Given the description of an element on the screen output the (x, y) to click on. 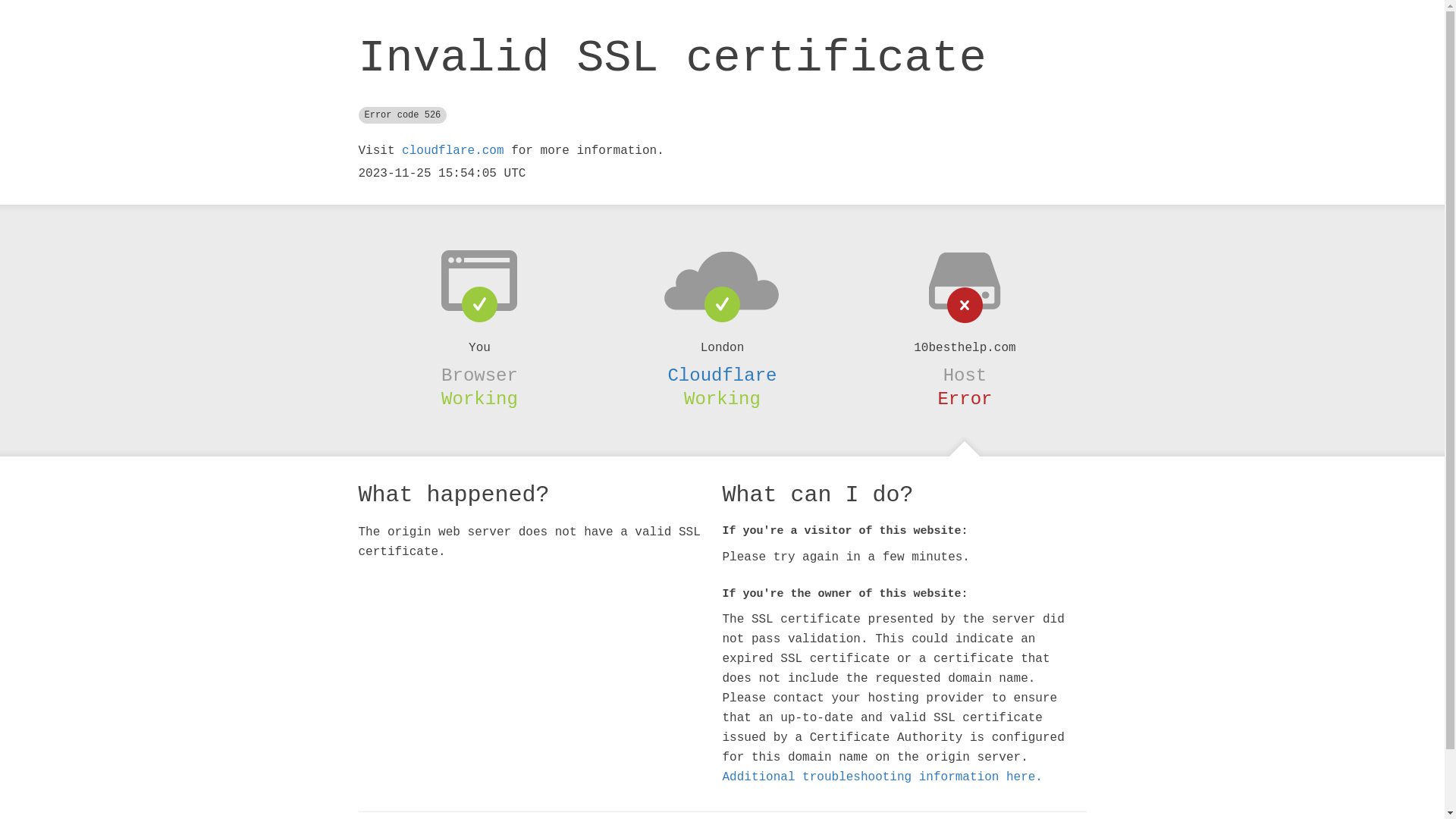
Additional troubleshooting information here. Element type: text (881, 777)
Cloudflare Element type: text (721, 375)
cloudflare.com Element type: text (452, 150)
